Given the description of an element on the screen output the (x, y) to click on. 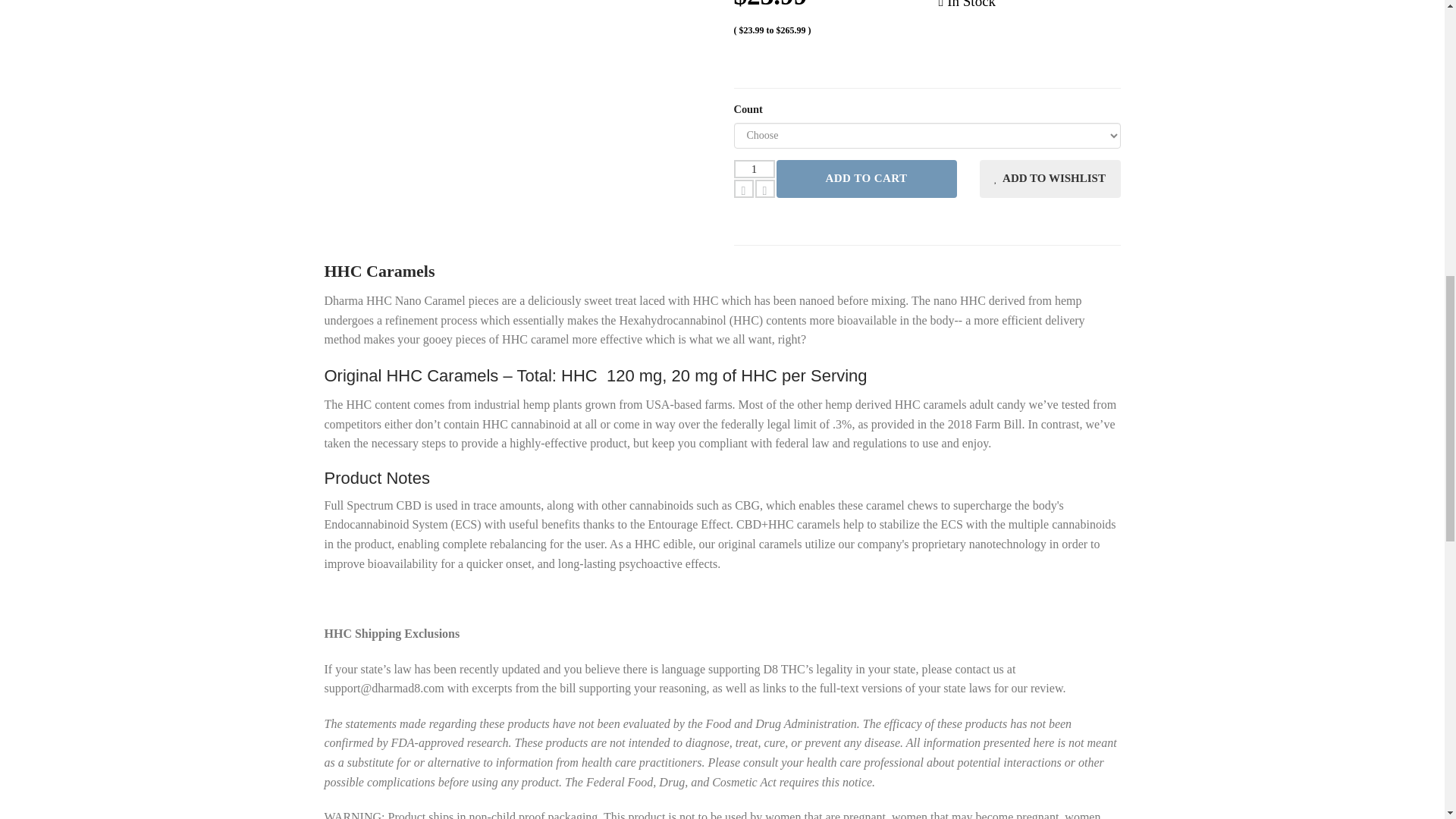
ADD TO WISHLIST (1050, 178)
ADD TO CART (866, 178)
1 (753, 168)
